Given the description of an element on the screen output the (x, y) to click on. 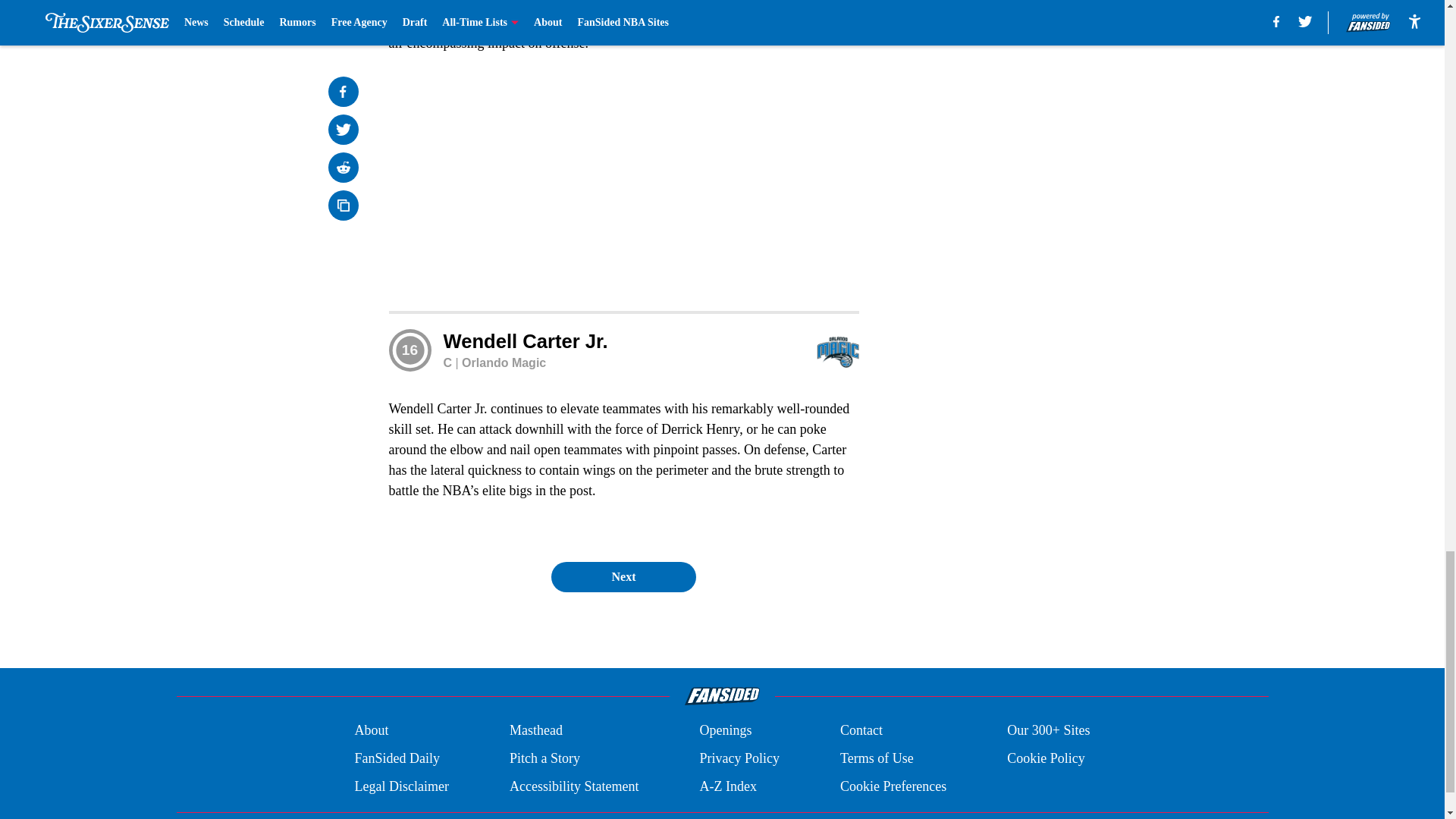
Next (622, 576)
FanSided Daily (396, 758)
Pitch a Story (544, 758)
Masthead (535, 730)
Contact (861, 730)
Openings (724, 730)
About (370, 730)
